Given the description of an element on the screen output the (x, y) to click on. 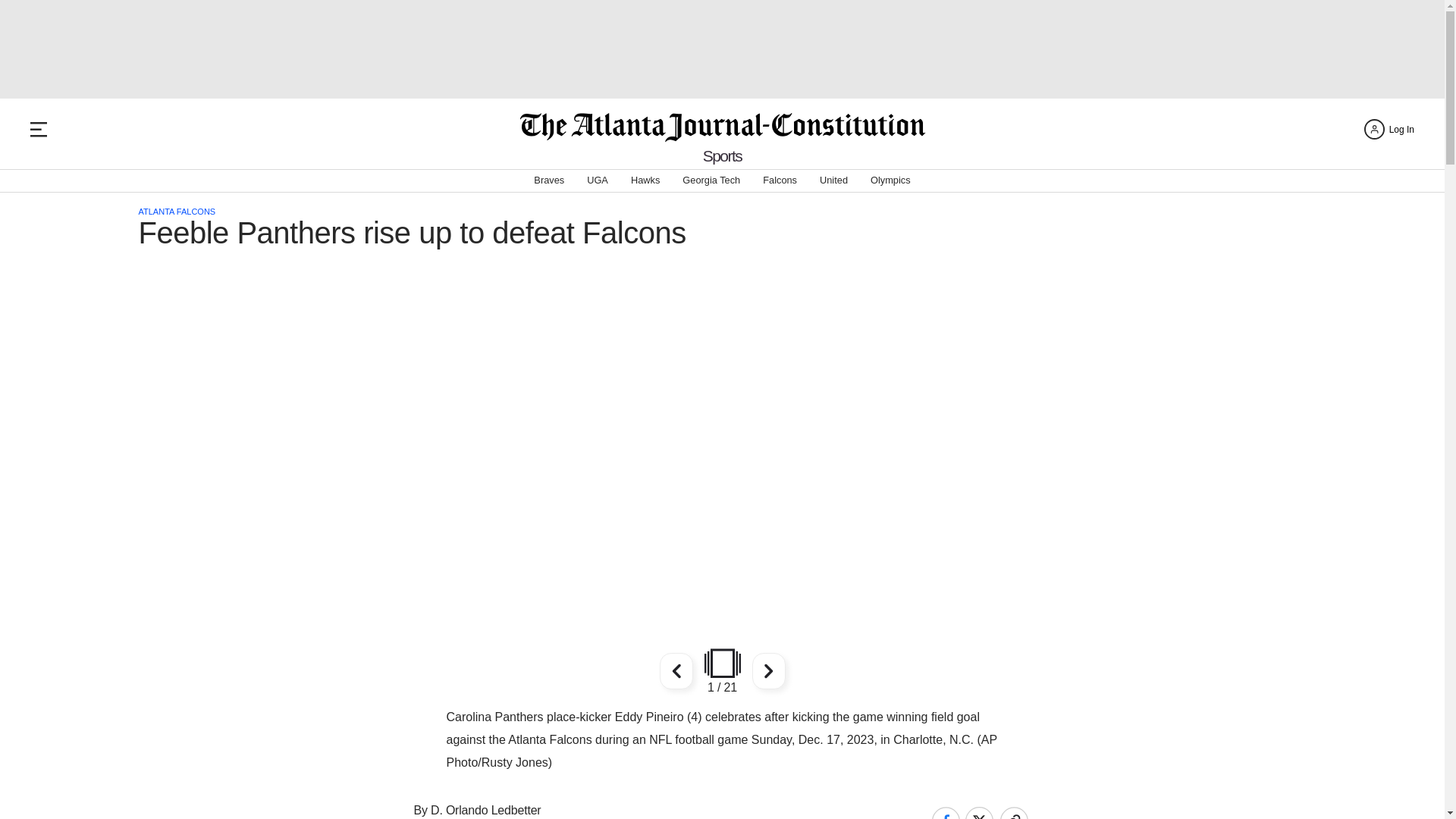
Sports (722, 155)
Olympics (890, 180)
Georgia Tech (710, 180)
Falcons (779, 180)
United (833, 180)
Hawks (644, 180)
UGA (597, 180)
Braves (549, 180)
